Given the description of an element on the screen output the (x, y) to click on. 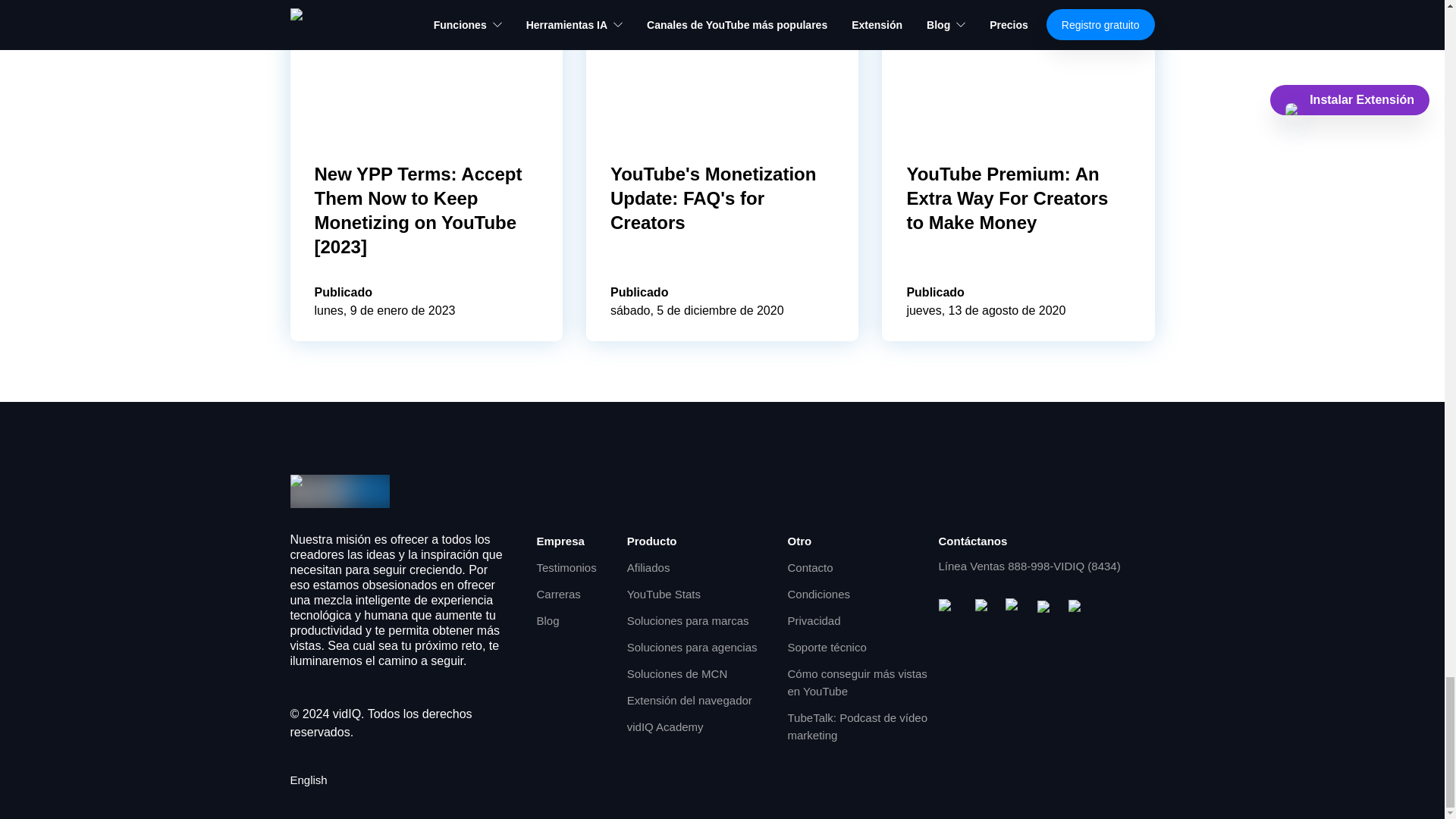
Twitter (1046, 608)
Facebook (983, 607)
LinkedIn (1076, 608)
YouTube (950, 607)
Instagram (1015, 608)
